Given the description of an element on the screen output the (x, y) to click on. 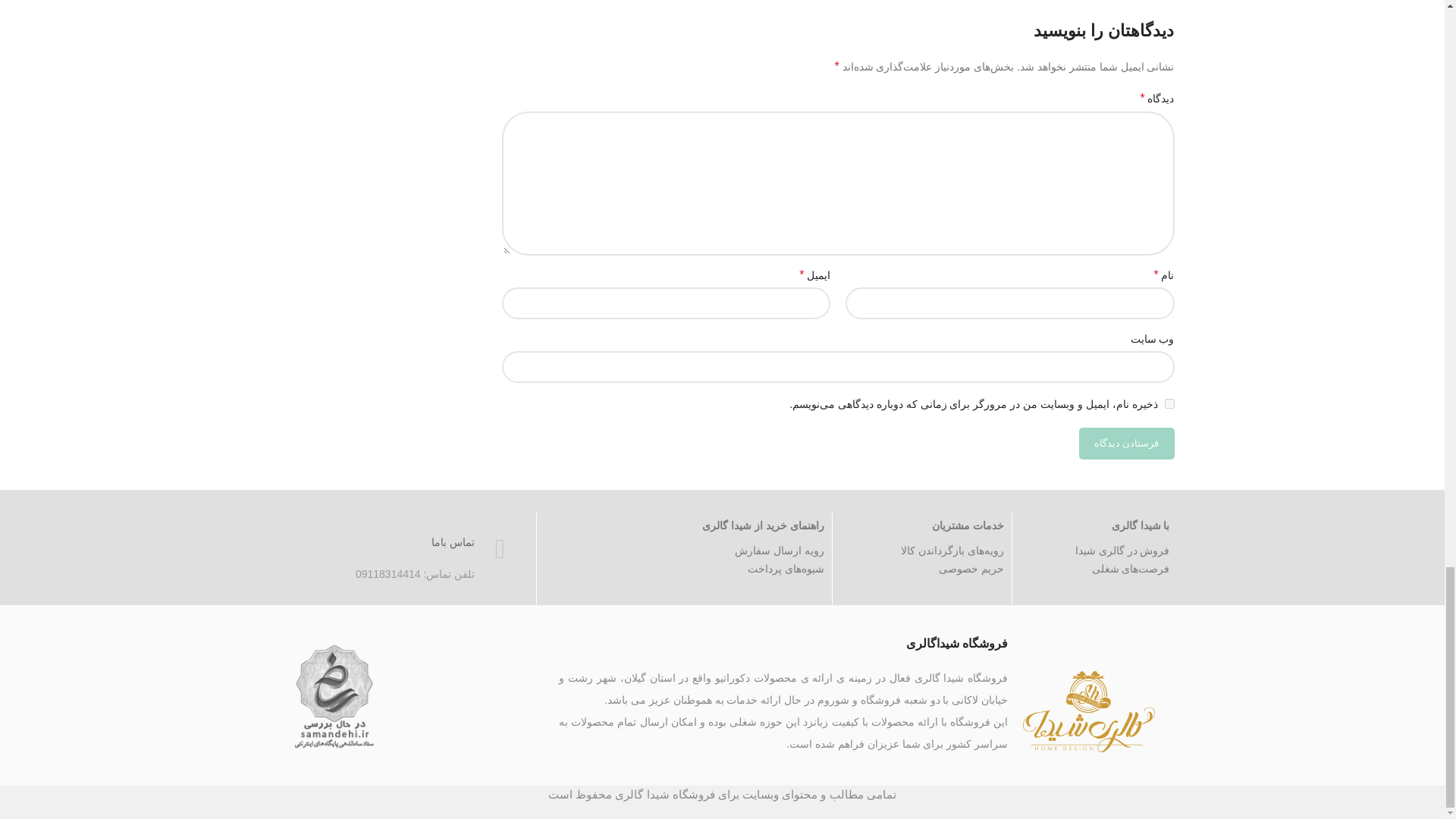
yes (1169, 403)
